Given the description of an element on the screen output the (x, y) to click on. 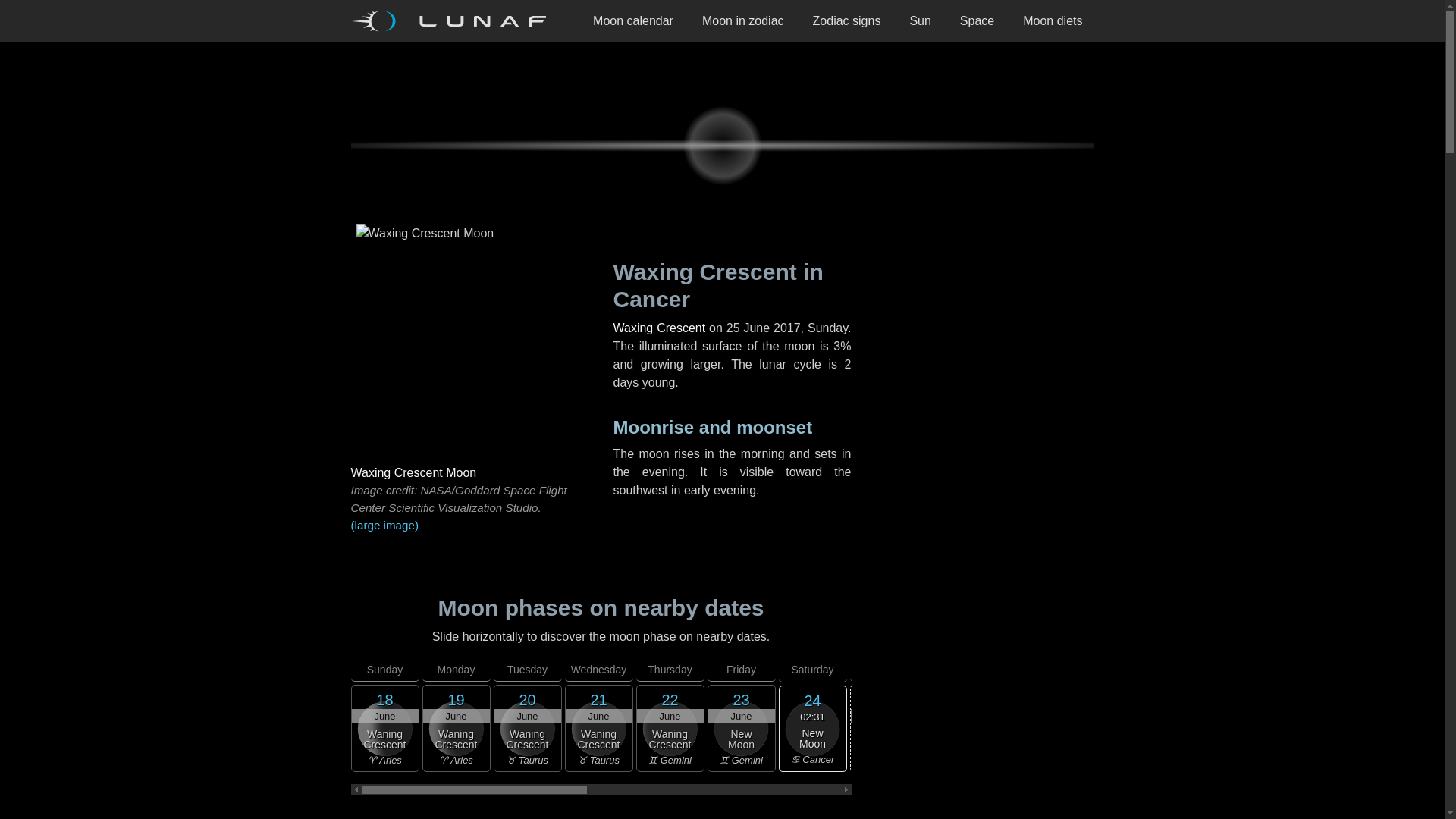
Moon in zodiac (742, 21)
Lunaf (453, 21)
Moon calendar (632, 21)
Zodiac signs (847, 21)
Zodiac signs (847, 21)
Sun (920, 21)
Space (977, 21)
Moon diets (1052, 21)
Sun (920, 21)
Moon calendar (632, 21)
